Given the description of an element on the screen output the (x, y) to click on. 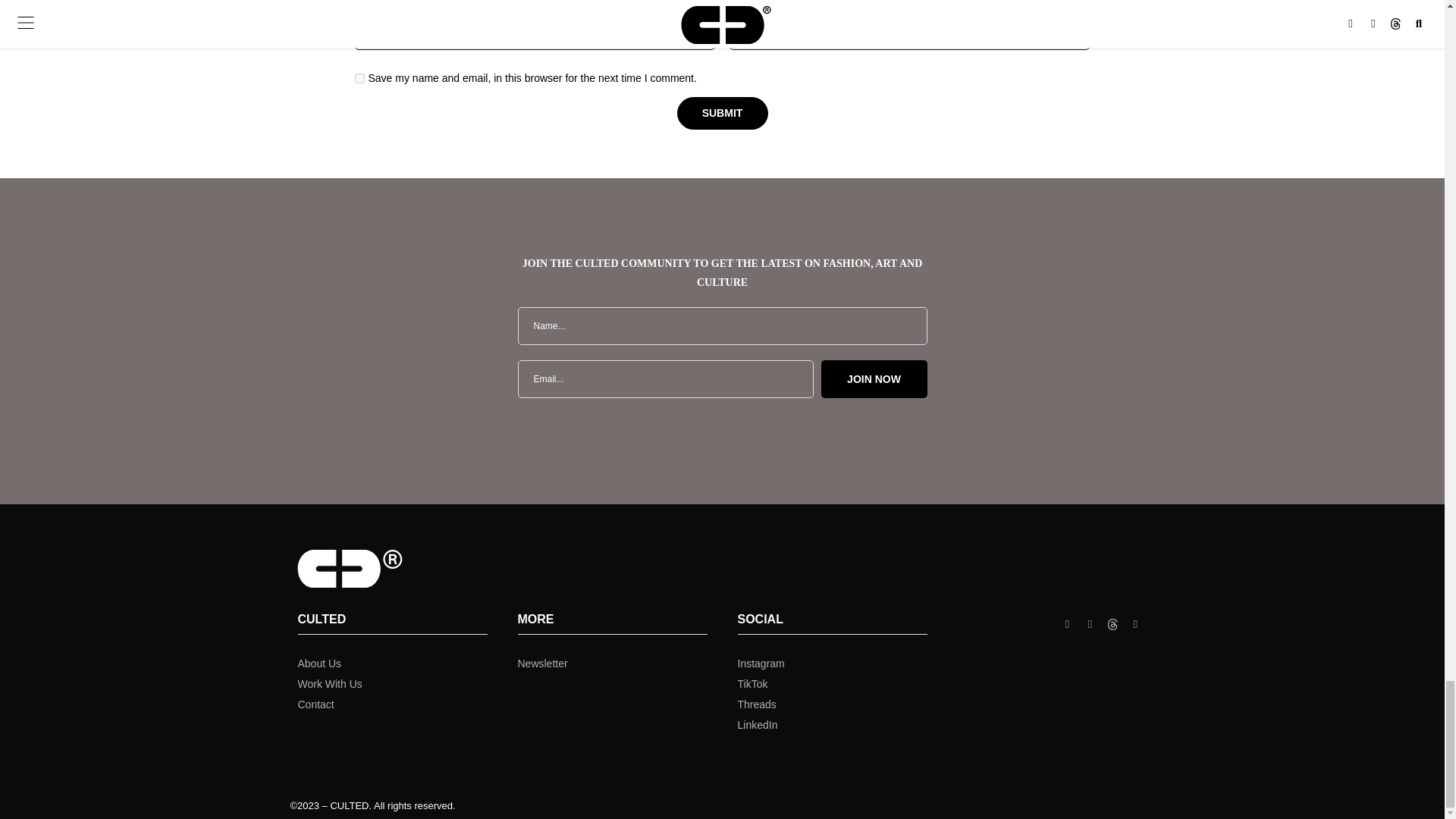
JOIN NOW (873, 379)
yes (360, 78)
Submit (722, 113)
